Given the description of an element on the screen output the (x, y) to click on. 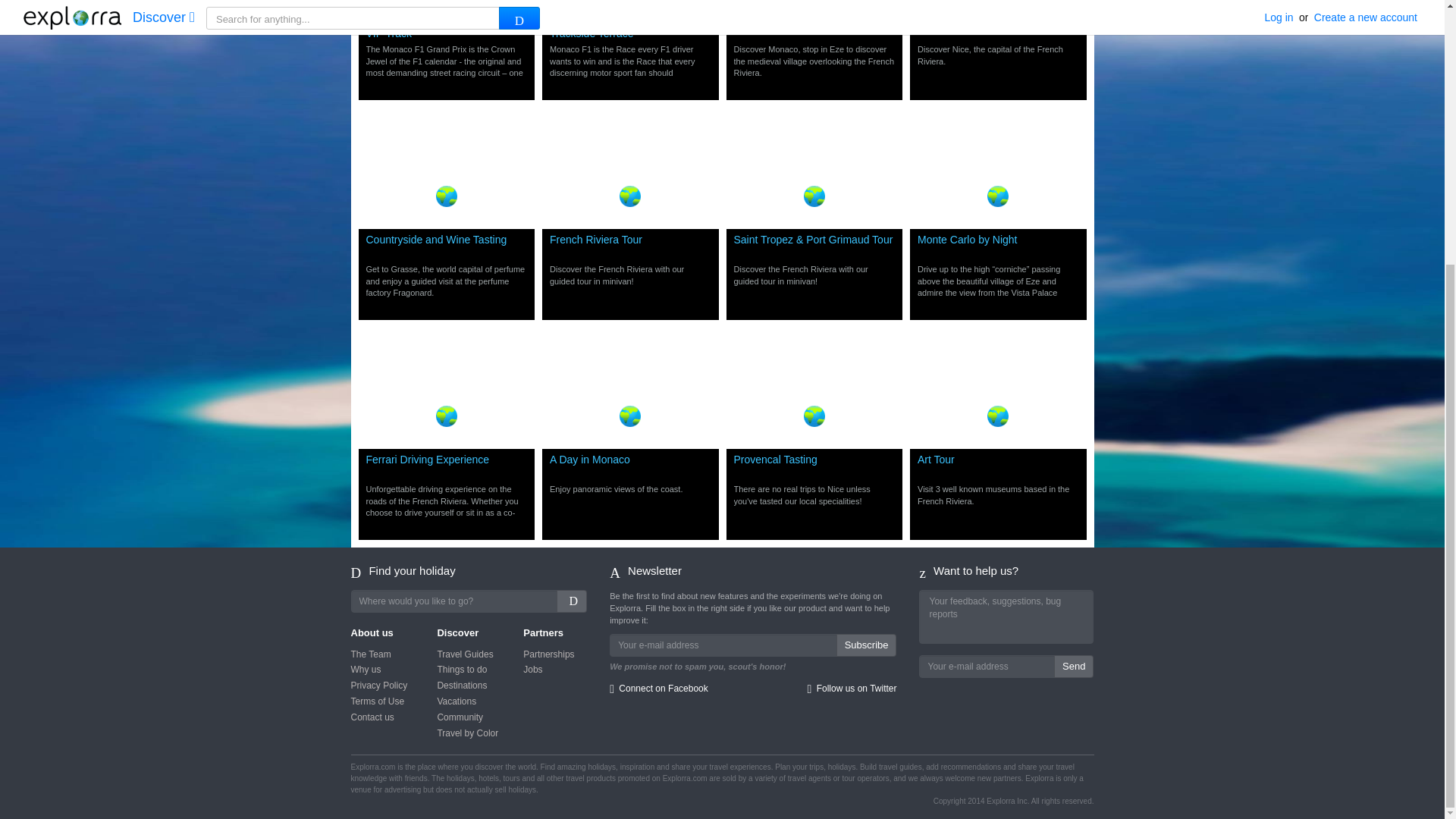
Monaco F1 Grand Prix - 2 Days VIP Track (997, 61)
Countryside and Wine Tasting (446, 26)
Monaco F1 Grand Prix - Roof Top Trackside Terrace (446, 246)
Nice City Tour (630, 26)
French Riviera Tour (997, 26)
